Given the description of an element on the screen output the (x, y) to click on. 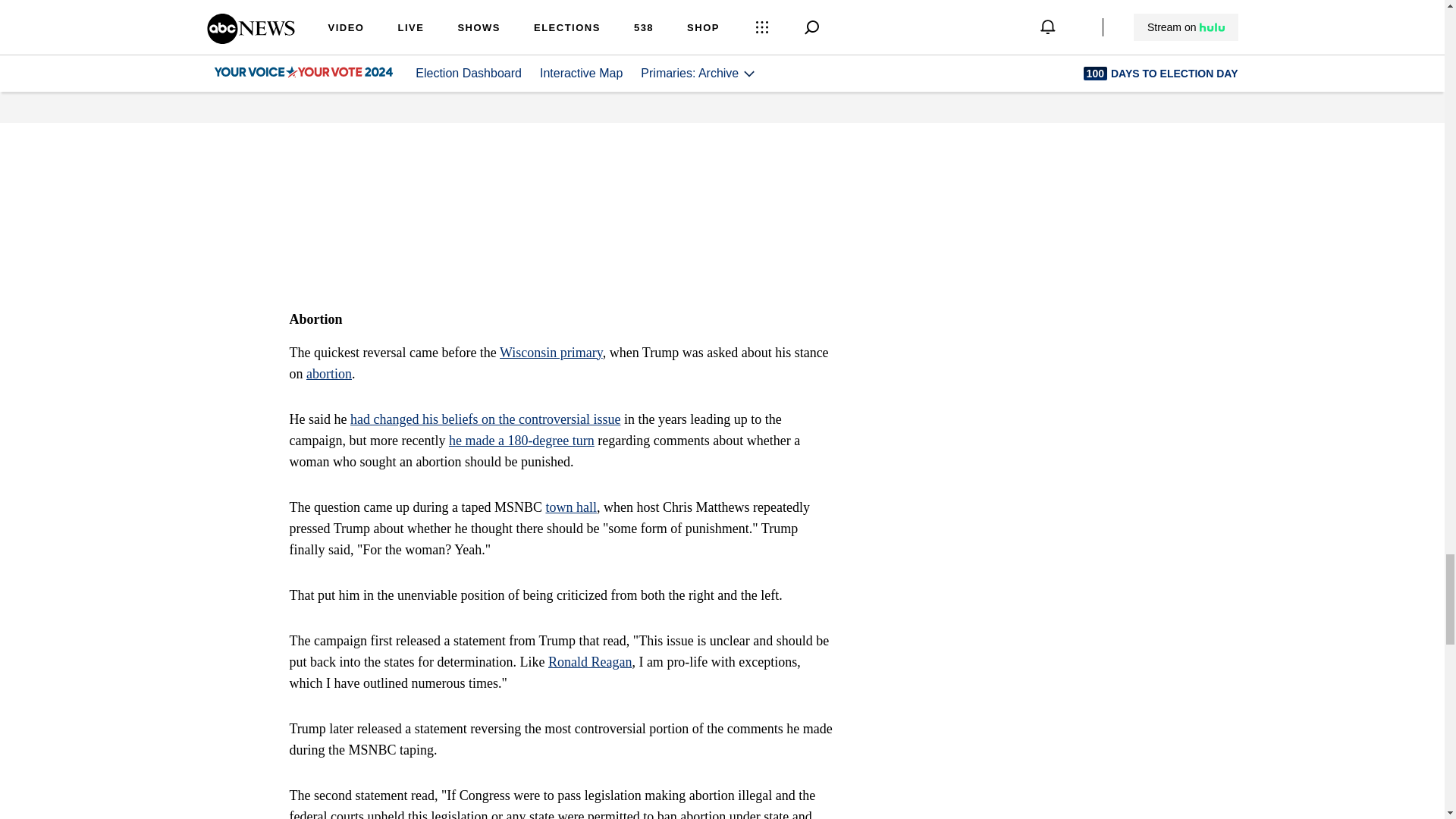
Wisconsin primary (550, 351)
abortion (328, 372)
had changed his beliefs on the controversial issue (485, 418)
town hall (570, 506)
Ronald Reagan (589, 661)
he made a 180-degree turn (521, 439)
June 15, 2016 (628, 1)
